Given the description of an element on the screen output the (x, y) to click on. 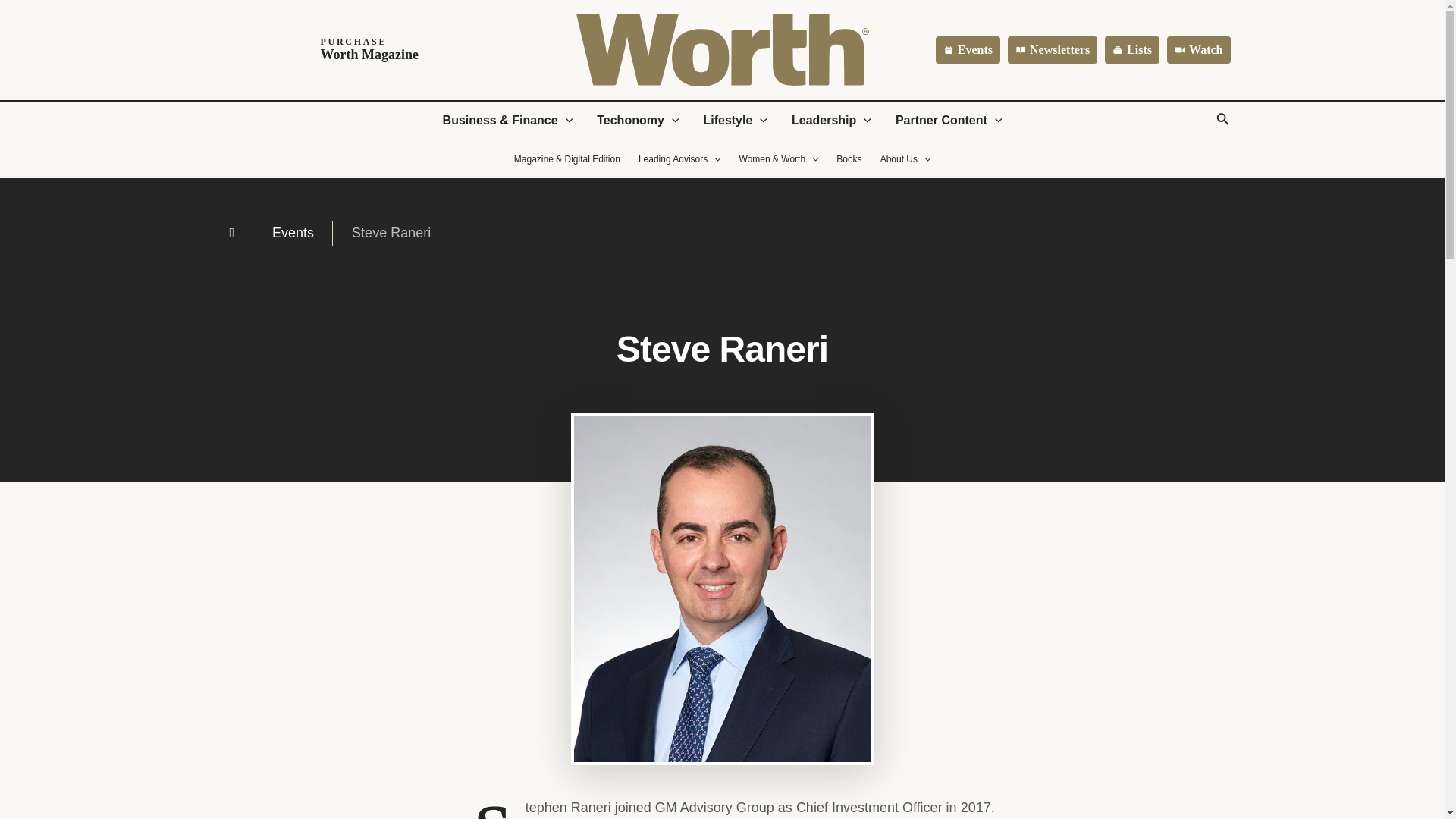
Partner Content (948, 120)
Lists (1131, 49)
Lifestyle (734, 120)
Watch (1198, 49)
Leading Advisors (679, 159)
Events (330, 49)
Newsletters (968, 49)
Leadership (1052, 49)
Techonomy (830, 120)
